Given the description of an element on the screen output the (x, y) to click on. 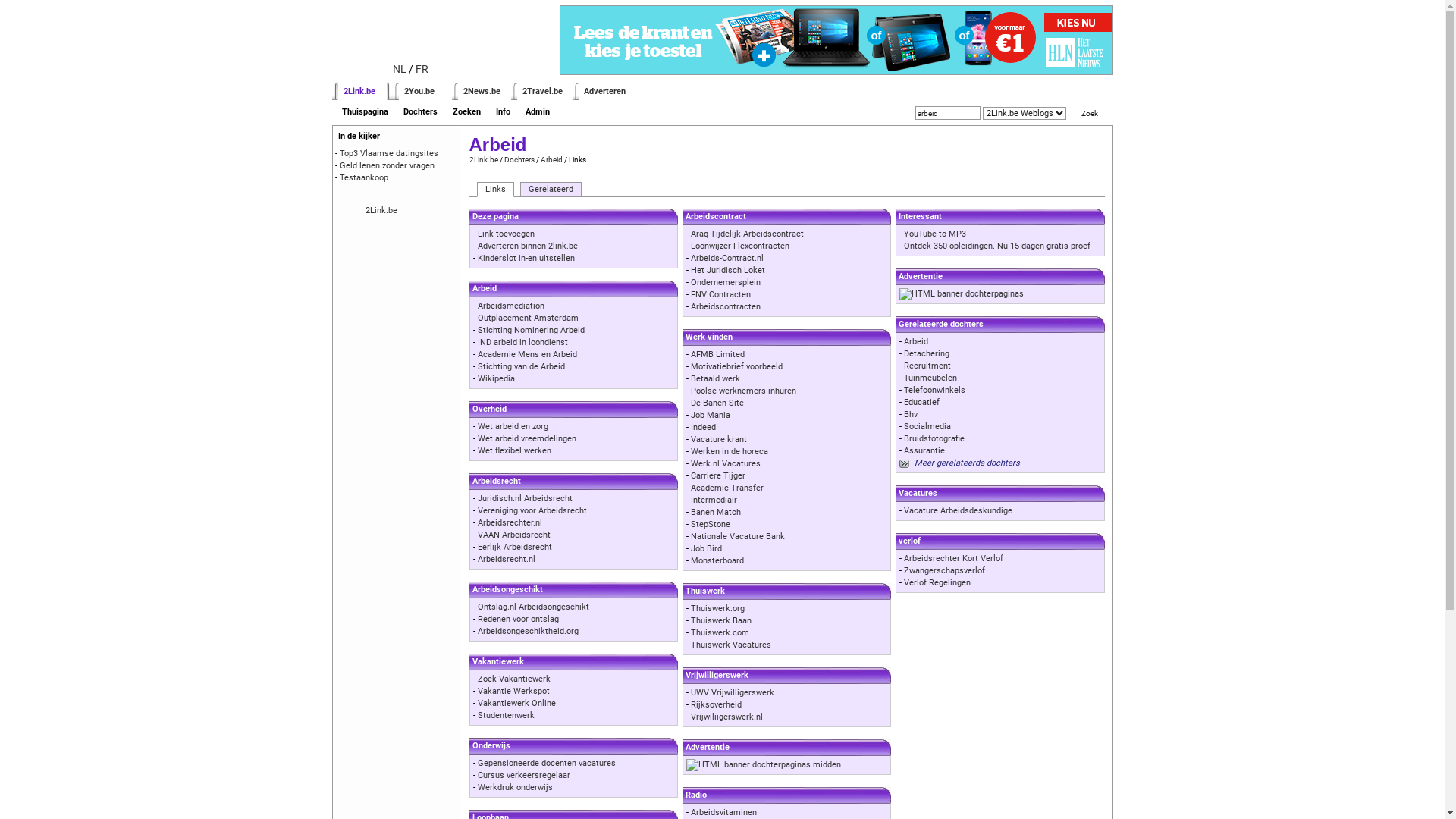
Arbeids-Contract.nl Element type: text (726, 258)
De Banen Site Element type: text (716, 402)
Geld lenen zonder vragen Element type: text (386, 165)
Poolse werknemers inhuren Element type: text (743, 390)
Zoeken Element type: text (465, 111)
Thuiswerk Vacatures Element type: text (730, 644)
Cursus verkeersregelaar Element type: text (523, 775)
Werken in de horeca Element type: text (729, 451)
Arbeidsvitaminen Element type: text (723, 812)
AFMB Limited Element type: text (717, 354)
Info Element type: text (502, 111)
Arbeid Element type: text (550, 159)
Wet arbeid en zorg Element type: text (512, 426)
VAAN Arbeidsrecht Element type: text (513, 534)
Job Bird Element type: text (705, 548)
Thuiswerk.com Element type: text (719, 632)
Arbeidsongeschiktheid.org Element type: text (527, 631)
Stichting Nominering Arbeid Element type: text (530, 330)
Telefoonwinkels Element type: text (934, 390)
Gepensioneerde docenten vacatures Element type: text (546, 763)
IND arbeid in loondienst Element type: text (522, 342)
Vrijwiliigerswerk.nl Element type: text (726, 716)
Werk.nl Vacatures Element type: text (725, 463)
Bruidsfotografie Element type: text (933, 438)
Admin Element type: text (536, 111)
Top3 Vlaamse datingsites Element type: text (388, 153)
Arbeidsmediation Element type: text (510, 305)
Wet arbeid vreemdelingen Element type: text (526, 438)
Detachering Element type: text (926, 353)
Ontslag.nl Arbeidsongeschikt Element type: text (533, 606)
Adverteren binnen 2link.be Element type: text (527, 246)
Academie Mens en Arbeid Element type: text (527, 354)
Wet flexibel werken Element type: text (514, 450)
Betaald werk Element type: text (715, 378)
Araq Tijdelijk Arbeidscontract Element type: text (746, 233)
Arbeidsrechter.nl Element type: text (509, 522)
2News.be Element type: text (480, 91)
Thuiswerk Baan Element type: text (720, 620)
Assurantie Element type: text (923, 450)
Zoek Vakantiewerk Element type: text (513, 679)
Adverteren Element type: text (604, 91)
Meer gerelateerde dochters Element type: text (966, 462)
2Travel.be Element type: text (541, 91)
Vereniging voor Arbeidsrecht Element type: text (531, 510)
Monsterboard Element type: text (716, 560)
Motivatiebrief voorbeeld Element type: text (736, 366)
Recruitment Element type: text (926, 365)
Job Mania Element type: text (710, 415)
Socialmedia Element type: text (926, 426)
Intermediair Element type: text (713, 500)
Wikipedia Element type: text (495, 378)
Zoek Element type: text (1089, 113)
Zwangerschapsverlof Element type: text (944, 570)
Gerelateerd Element type: text (550, 189)
Vakantiewerk Online Element type: text (516, 703)
Banen Match Element type: text (715, 512)
Dochters Element type: text (420, 111)
Thuispagina Element type: text (364, 111)
Werkdruk onderwijs Element type: text (514, 787)
Kinderslot in-en uitstellen Element type: text (525, 258)
UWV Vrijwilligerswerk Element type: text (732, 692)
FR Element type: text (421, 68)
Verlof Regelingen Element type: text (936, 582)
YouTube to MP3 Element type: text (934, 233)
Dochters Element type: text (518, 159)
Educatief Element type: text (921, 402)
StepStone Element type: text (710, 524)
Ondernemersplein Element type: text (725, 282)
Academic Transfer Element type: text (726, 487)
Eerlijk Arbeidsrecht Element type: text (514, 547)
Arbeidsrecht.nl Element type: text (506, 559)
Outplacement Amsterdam Element type: text (527, 318)
2Link.be Element type: text (358, 91)
Thuiswerk.org Element type: text (717, 608)
Tuinmeubelen Element type: text (930, 377)
Stichting van de Arbeid Element type: text (520, 366)
Ontdek 350 opleidingen. Nu 15 dagen gratis proef Element type: text (996, 246)
NL Element type: text (399, 68)
Juridisch.nl Arbeidsrecht Element type: text (524, 498)
Rijksoverheid Element type: text (715, 704)
Link toevoegen Element type: text (505, 233)
Vacature Arbeidsdeskundige Element type: text (957, 510)
Nationale Vacature Bank Element type: text (737, 536)
Bhv Element type: text (910, 414)
Arbeidscontracten Element type: text (725, 306)
Vakantie Werkspot Element type: text (513, 691)
Arbeid Element type: text (915, 341)
2Link.be Element type: text (381, 210)
Testaankoop Element type: text (363, 177)
Loonwijzer Flexcontracten Element type: text (739, 246)
Het Juridisch Loket Element type: text (727, 270)
2You.be Element type: text (418, 91)
Vacature krant Element type: text (718, 439)
FNV Contracten Element type: text (720, 294)
Redenen voor ontslag Element type: text (517, 619)
Indeed Element type: text (702, 427)
Studentenwerk Element type: text (505, 715)
2Link.be Element type: text (482, 159)
Arbeidsrechter Kort Verlof Element type: text (953, 558)
Links Element type: text (494, 189)
Carriere Tijger Element type: text (717, 475)
